Given the description of an element on the screen output the (x, y) to click on. 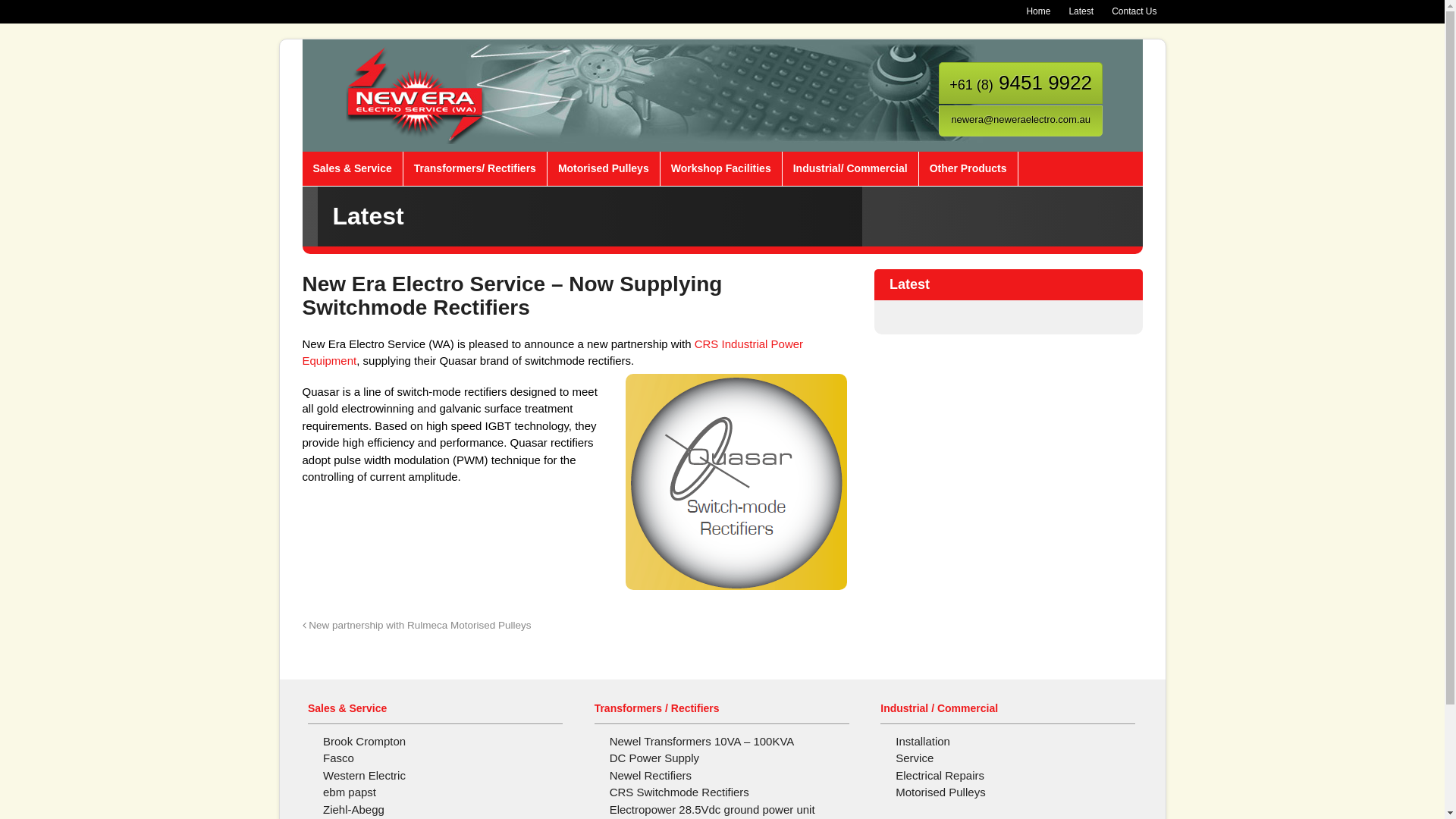
CRS Switchmode Rectifiers Element type: text (679, 791)
Electrical Repairs Element type: text (939, 774)
Newel Rectifiers Element type: text (650, 774)
CRS Industrial Power Equipment Element type: text (552, 352)
Installation Element type: text (922, 740)
Brook Crompton Element type: text (364, 740)
Where Service Comes First Element type: hover (415, 134)
Motorised Pulleys Element type: text (940, 791)
Western Electric Element type: text (364, 774)
Service Element type: text (914, 757)
Contact Us Element type: text (1133, 11)
Other Products Element type: text (968, 168)
Electropower 28.5Vdc ground power unit Element type: text (712, 809)
New partnership with Rulmeca Motorised Pulleys Element type: text (415, 624)
Home Element type: text (1037, 11)
newera@neweraelectro.com.au Element type: text (1020, 119)
Sales & Service Element type: text (351, 168)
Latest Element type: text (1080, 11)
Transformers/ Rectifiers Element type: text (474, 168)
DC Power Supply Element type: text (654, 757)
Motorised Pulleys Element type: text (603, 168)
Workshop Facilities Element type: text (720, 168)
Ziehl-Abegg Element type: text (353, 809)
ebm papst Element type: text (349, 791)
Fasco Element type: text (338, 757)
Industrial/ Commercial Element type: text (850, 168)
